Given the description of an element on the screen output the (x, y) to click on. 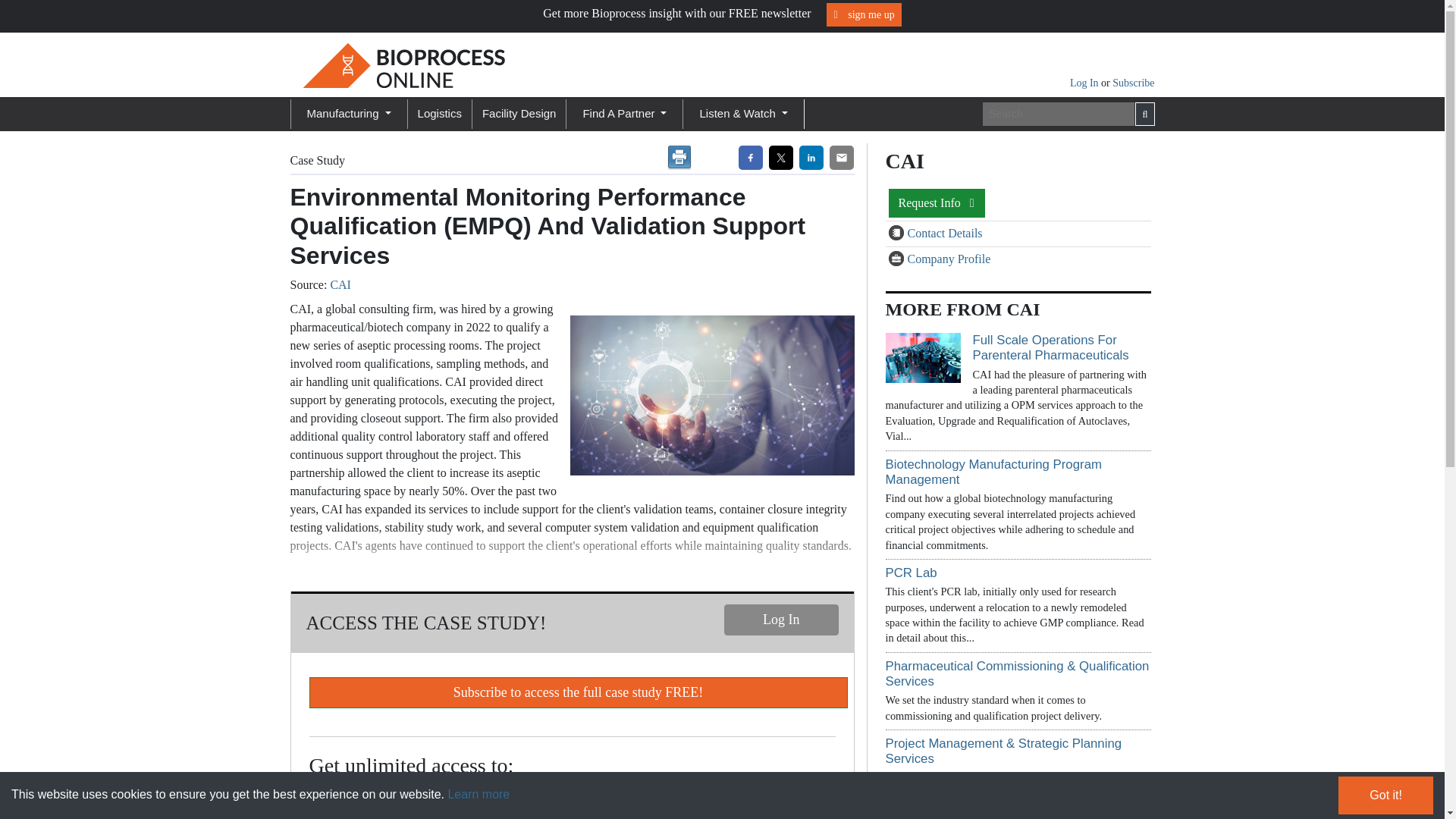
Contact Details (897, 233)
sign me up (864, 14)
Subscribe (1133, 82)
Facility Design (518, 113)
Log In (1085, 82)
Company Profile (897, 259)
CAI (340, 284)
Subscribe to access the full case study FREE! (577, 692)
Log In (780, 619)
Field Service Automation (708, 395)
